Given the description of an element on the screen output the (x, y) to click on. 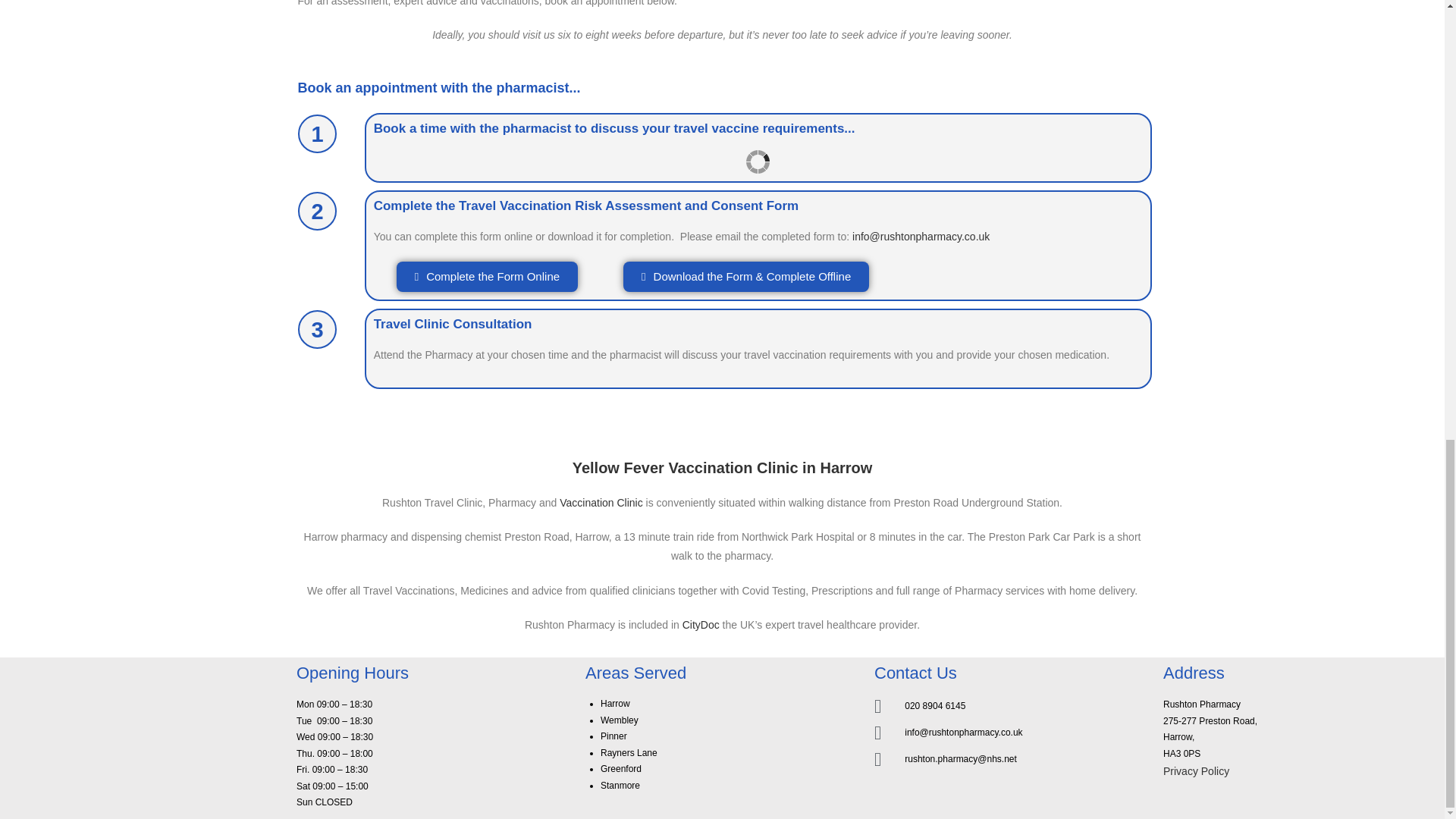
Vaccination Clinic (600, 502)
CityDoc (700, 624)
Privacy Policy (1195, 770)
020 8904 6145 (1011, 705)
Complete the Form Online (487, 276)
